Given the description of an element on the screen output the (x, y) to click on. 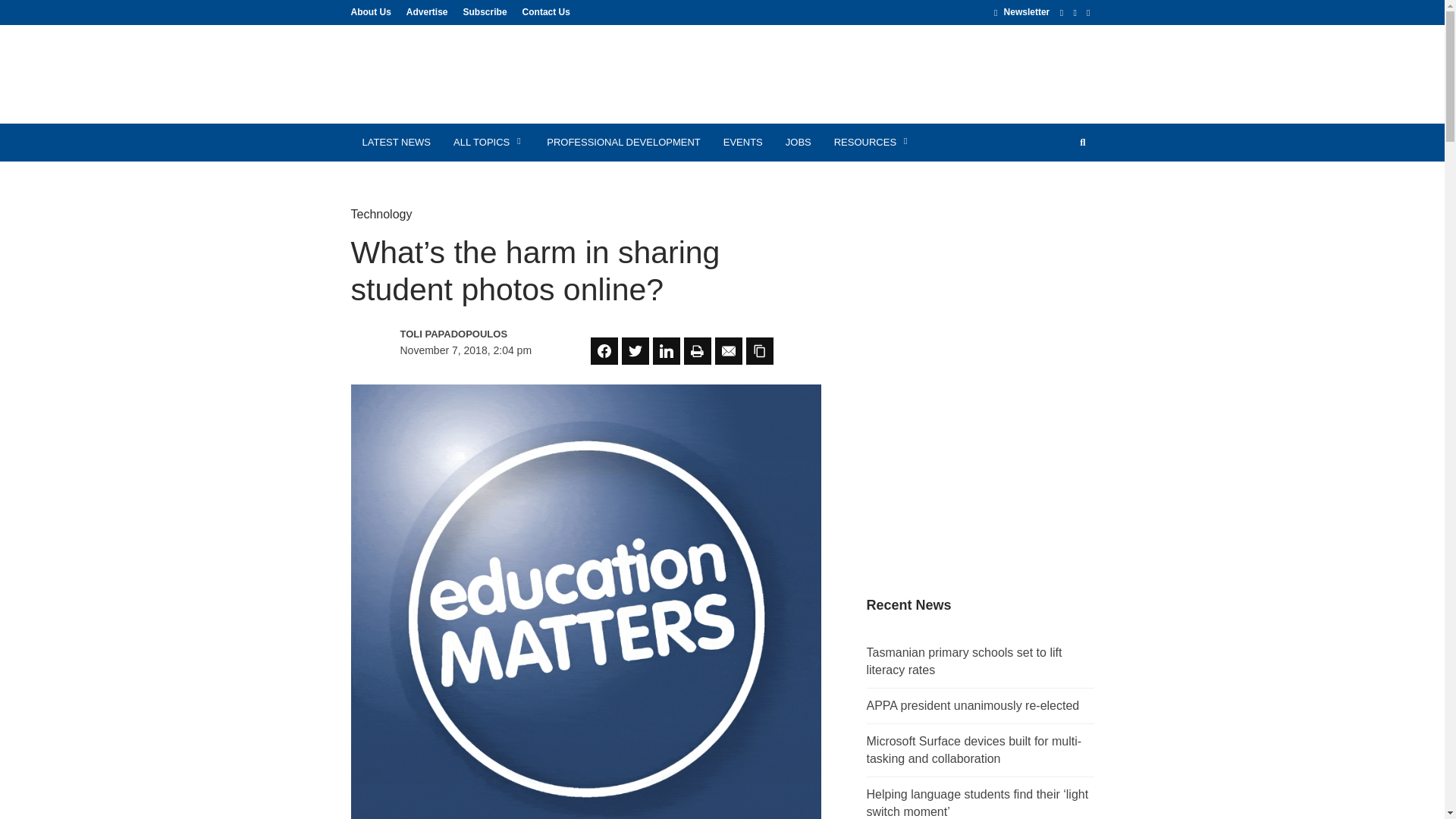
About Us (373, 11)
Contact Us (542, 11)
LATEST NEWS (396, 142)
Subscribe (485, 11)
Share on Twitter (635, 350)
Newsletter (1021, 11)
Share on LinkedIn (665, 350)
Share on Print (697, 350)
Share on Email (728, 350)
Share on Facebook (604, 350)
